Given the description of an element on the screen output the (x, y) to click on. 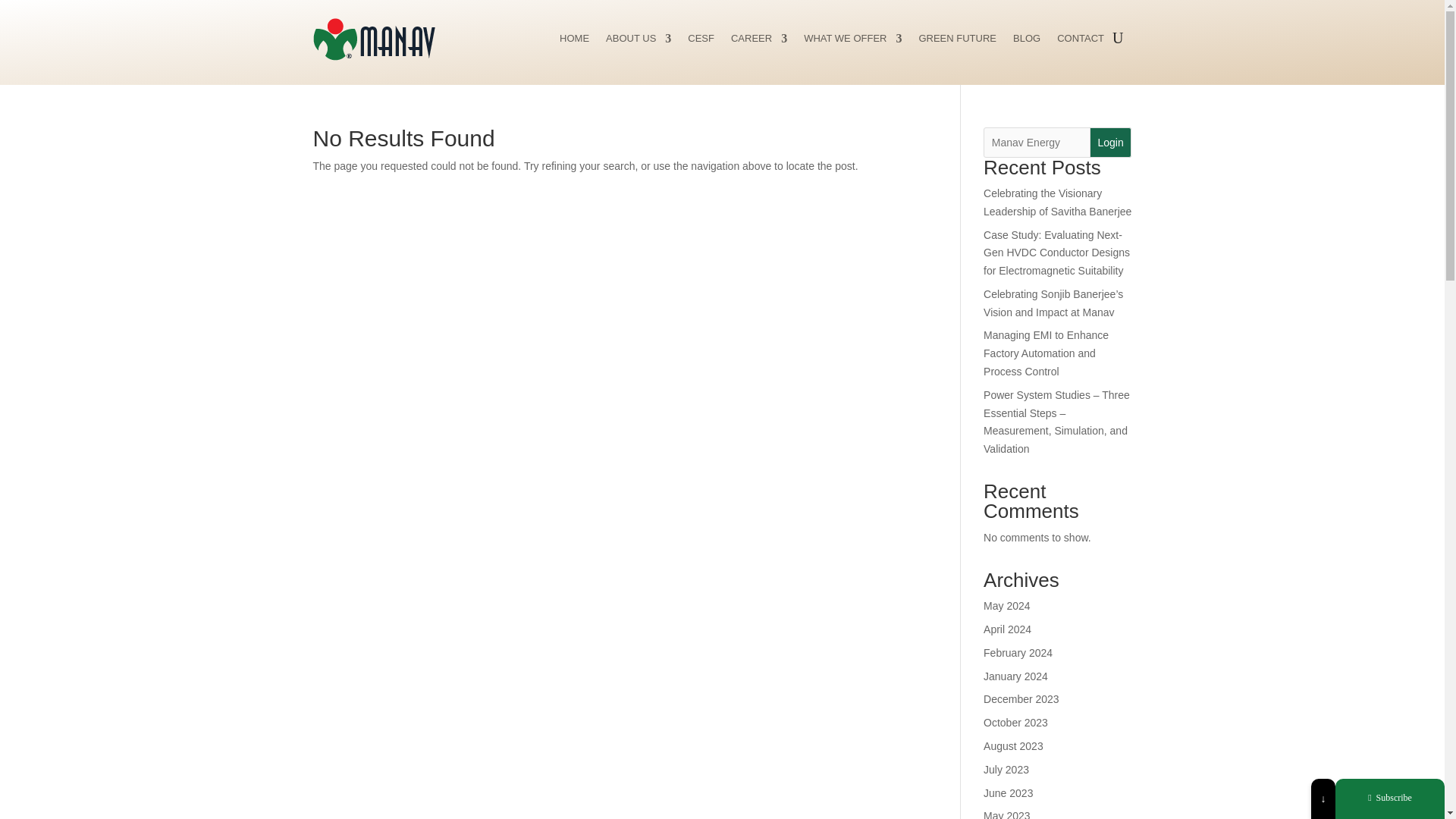
CESF (700, 41)
HOME (574, 41)
CONTACT (1080, 41)
weblogob (374, 42)
CAREER (758, 41)
BLOG (1027, 41)
ABOUT US (638, 41)
WHAT WE OFFER (852, 41)
GREEN FUTURE (956, 41)
